Given the description of an element on the screen output the (x, y) to click on. 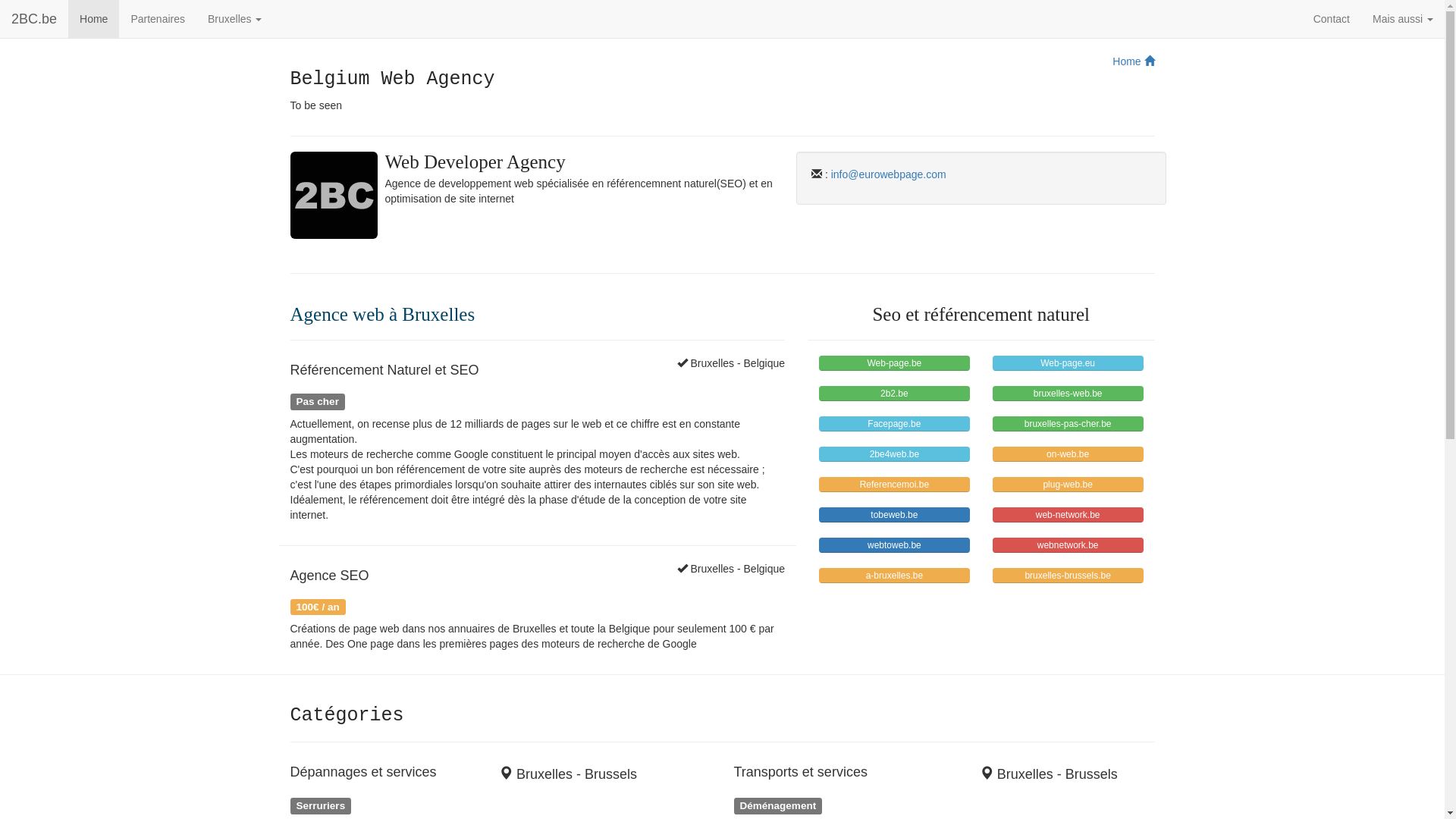
web-network.be Element type: text (1067, 514)
2BC.be Element type: text (34, 18)
Home
(current) Element type: text (93, 18)
Contact Element type: text (1331, 18)
2be4web.be Element type: text (894, 453)
info@eurowebpage.com Element type: text (888, 174)
2b2.be Element type: text (894, 393)
on-web.be Element type: text (1067, 453)
Web-page.eu Element type: text (1067, 362)
plug-web.be Element type: text (1067, 484)
webtoweb.be Element type: text (894, 544)
webnetwork.be Element type: text (1067, 544)
Partenaires Element type: text (157, 18)
tobeweb.be Element type: text (894, 514)
bruxelles-brussels.be Element type: text (1067, 575)
bruxelles-web.be Element type: text (1067, 393)
Facepage.be Element type: text (894, 423)
a-bruxelles.be Element type: text (894, 575)
Referencemoi.be Element type: text (894, 484)
Home Element type: text (1133, 61)
Web-page.be Element type: text (894, 362)
Mais aussi Element type: text (1402, 18)
bruxelles-pas-cher.be Element type: text (1067, 423)
Bruxelles Element type: text (234, 18)
